Given the description of an element on the screen output the (x, y) to click on. 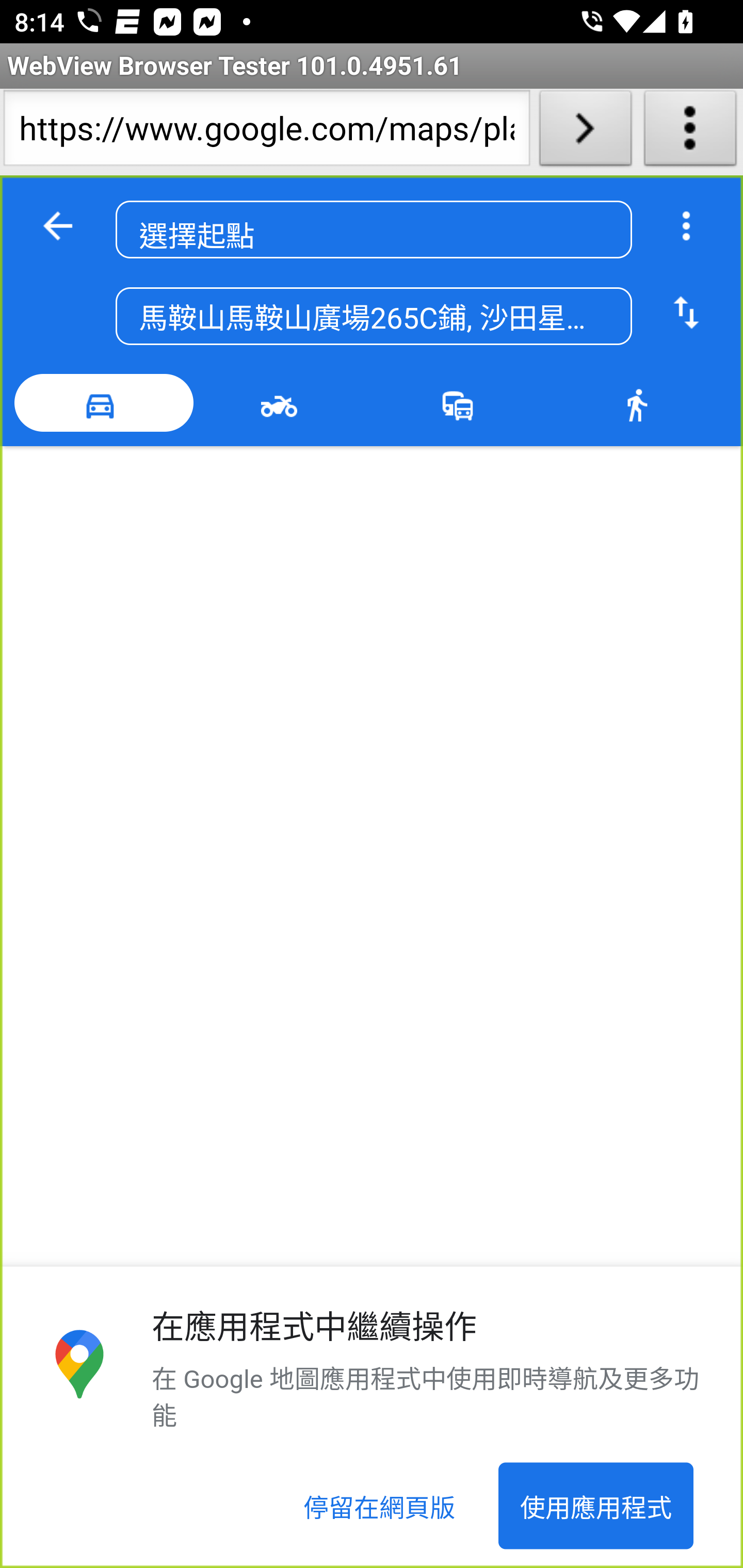
Load URL (585, 132)
About WebView (690, 132)
返回 (58, 226)
更多選項 (686, 226)
將起點和終點對調 (686, 313)
馬鞍山馬鞍山廣場265C鋪, 沙田星之鑽珠寶(JOL DIAMOND) (373, 316)
駕駛模式 (104, 402)
機車模式 (282, 402)
大眾運輸模式 (462, 402)
步行模式 (640, 402)
停留在網頁版 (379, 1505)
使用應用程式 (595, 1505)
